Given the description of an element on the screen output the (x, y) to click on. 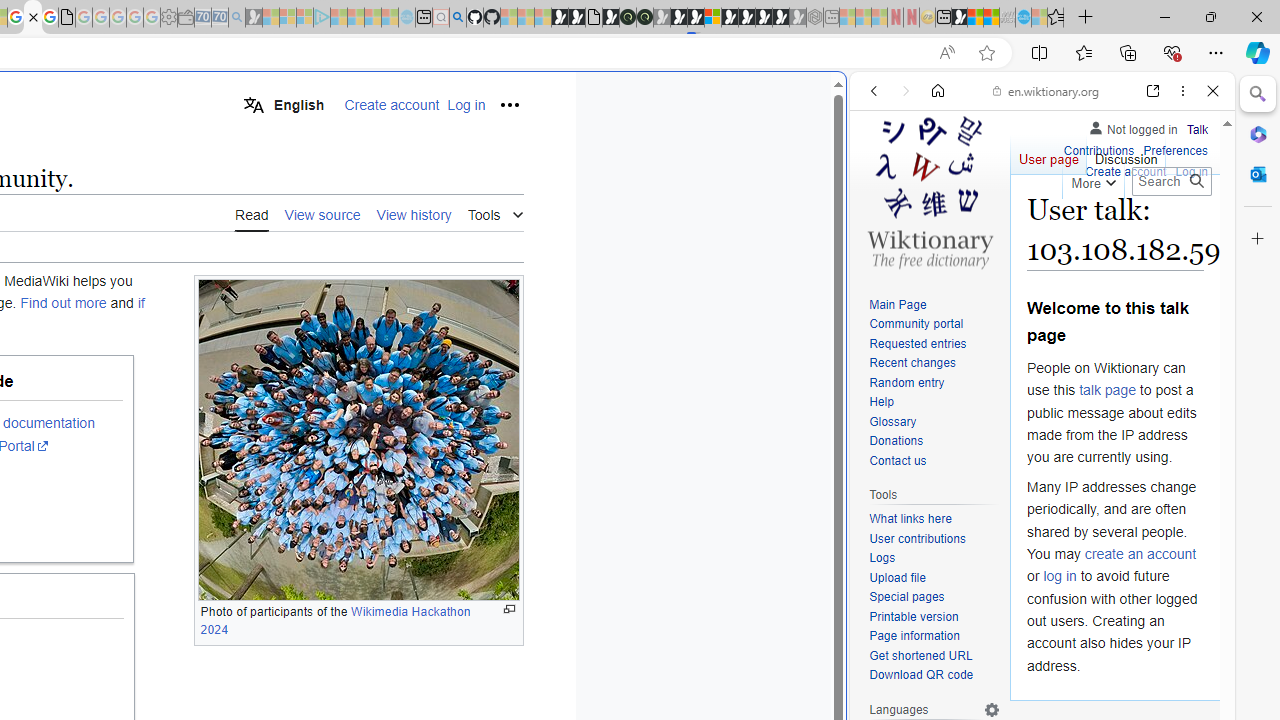
Earth has six continents not seven, radical new study claims (991, 17)
Create account (1125, 169)
Get shortened URL (920, 655)
Read (251, 214)
Wiktionary (1034, 669)
User page (1048, 154)
